Given the description of an element on the screen output the (x, y) to click on. 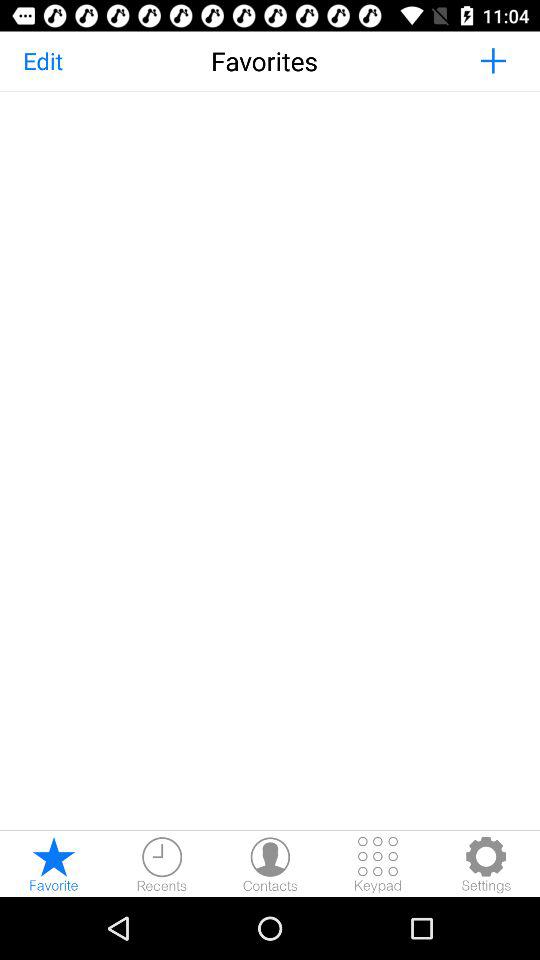
button to see recents (161, 864)
